Given the description of an element on the screen output the (x, y) to click on. 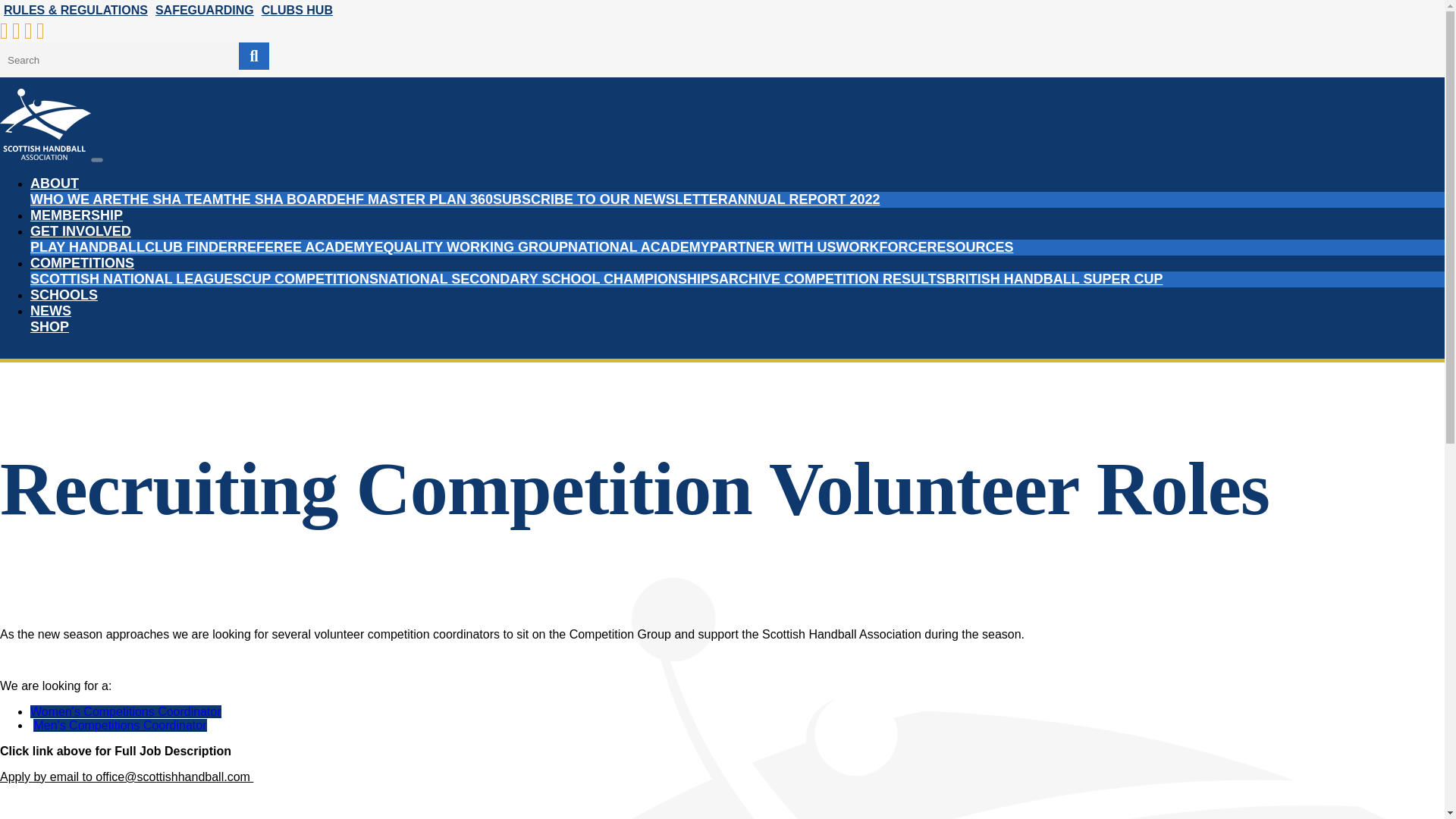
REFEREE ACADEMY (305, 246)
CLUB FINDER (190, 246)
MEMBERSHIP (76, 215)
GET INVOLVED (80, 231)
BRITISH HANDBALL SUPER CUP (1053, 278)
SHOP (49, 326)
THE SHA BOARD (280, 199)
ANNUAL REPORT 2022 (804, 199)
SUBSCRIBE TO OUR NEWSLETTER (610, 199)
WORKFORCE (880, 246)
EHF MASTER PLAN 360 (414, 199)
ABOUT (54, 183)
SCHOOLS (63, 294)
WHO WE ARE (75, 199)
PARTNER WITH US (772, 246)
